Given the description of an element on the screen output the (x, y) to click on. 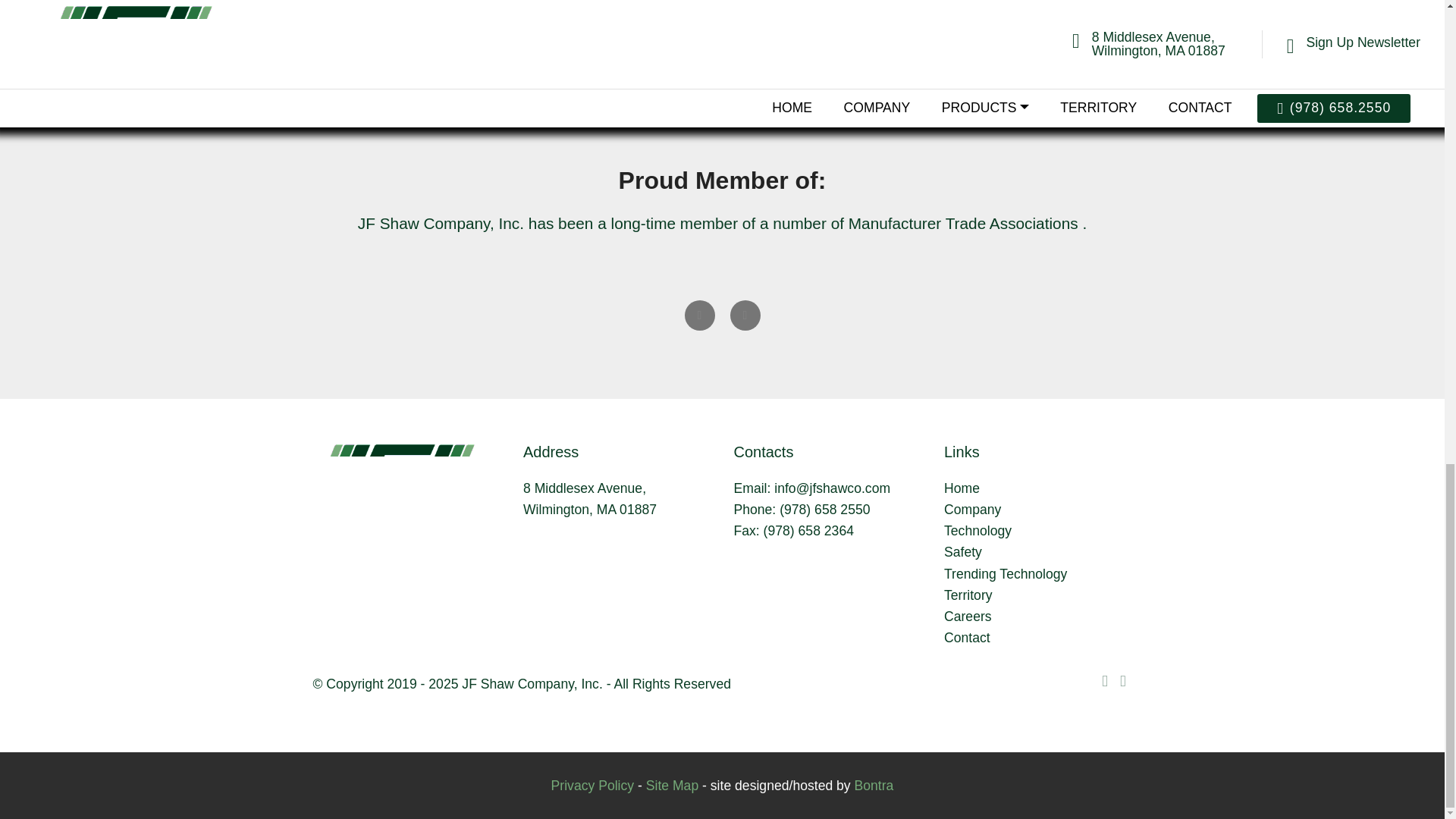
Trending Technology (1005, 573)
Safety (962, 551)
Home (961, 488)
Previous (699, 315)
Territory (967, 595)
Careers (967, 616)
Technology (977, 530)
Contact (966, 637)
Company (972, 509)
Next (744, 315)
